Given the description of an element on the screen output the (x, y) to click on. 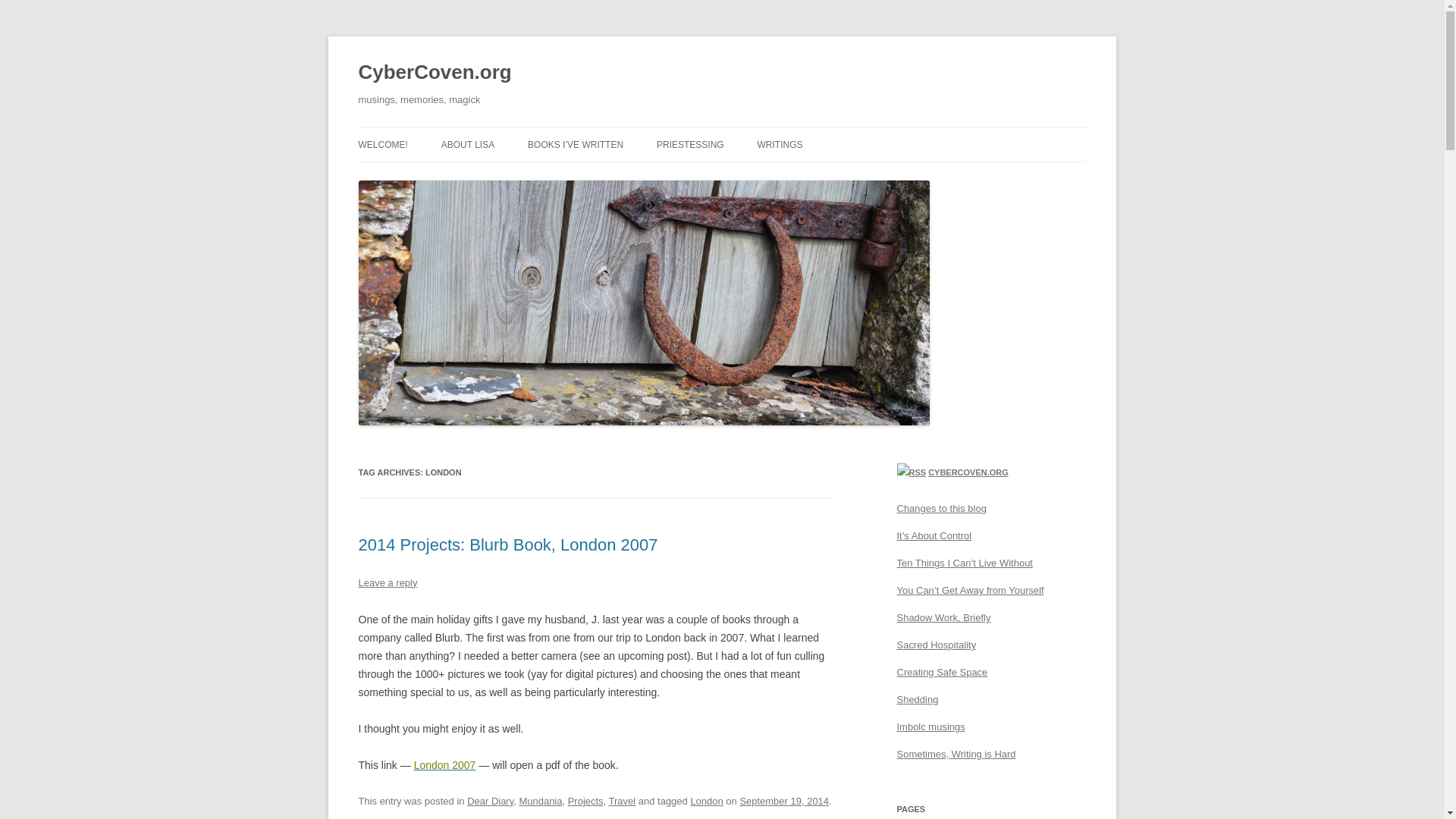
London 2007 (444, 765)
CyberCoven.org (434, 72)
Travel (622, 800)
CyberCoven.org (434, 72)
6:54 am (783, 800)
Projects (585, 800)
CYBERCOVEN.ORG (968, 471)
ABOUT LISA (468, 144)
London (706, 800)
